Given the description of an element on the screen output the (x, y) to click on. 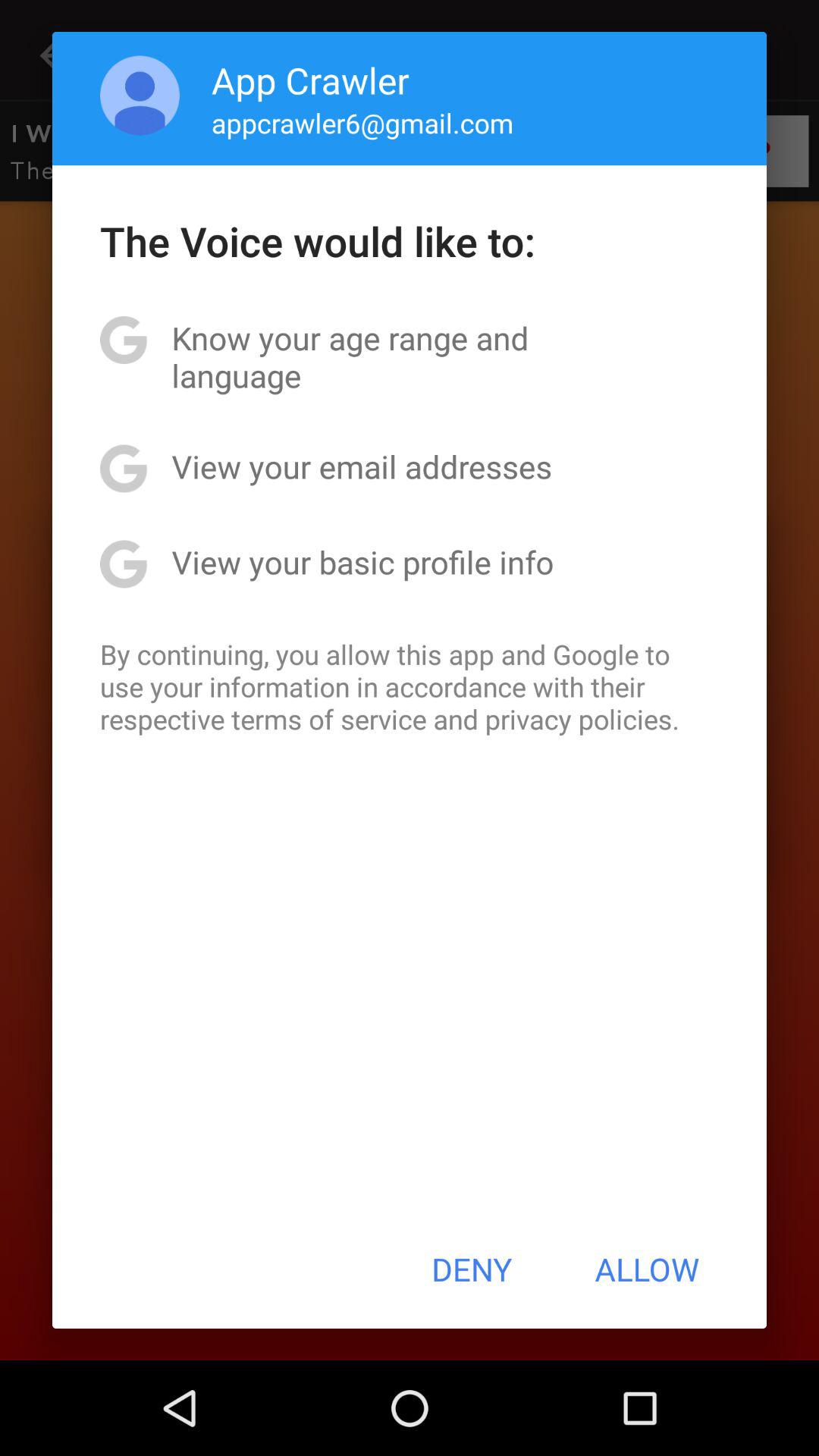
open the icon above view your email (409, 356)
